Given the description of an element on the screen output the (x, y) to click on. 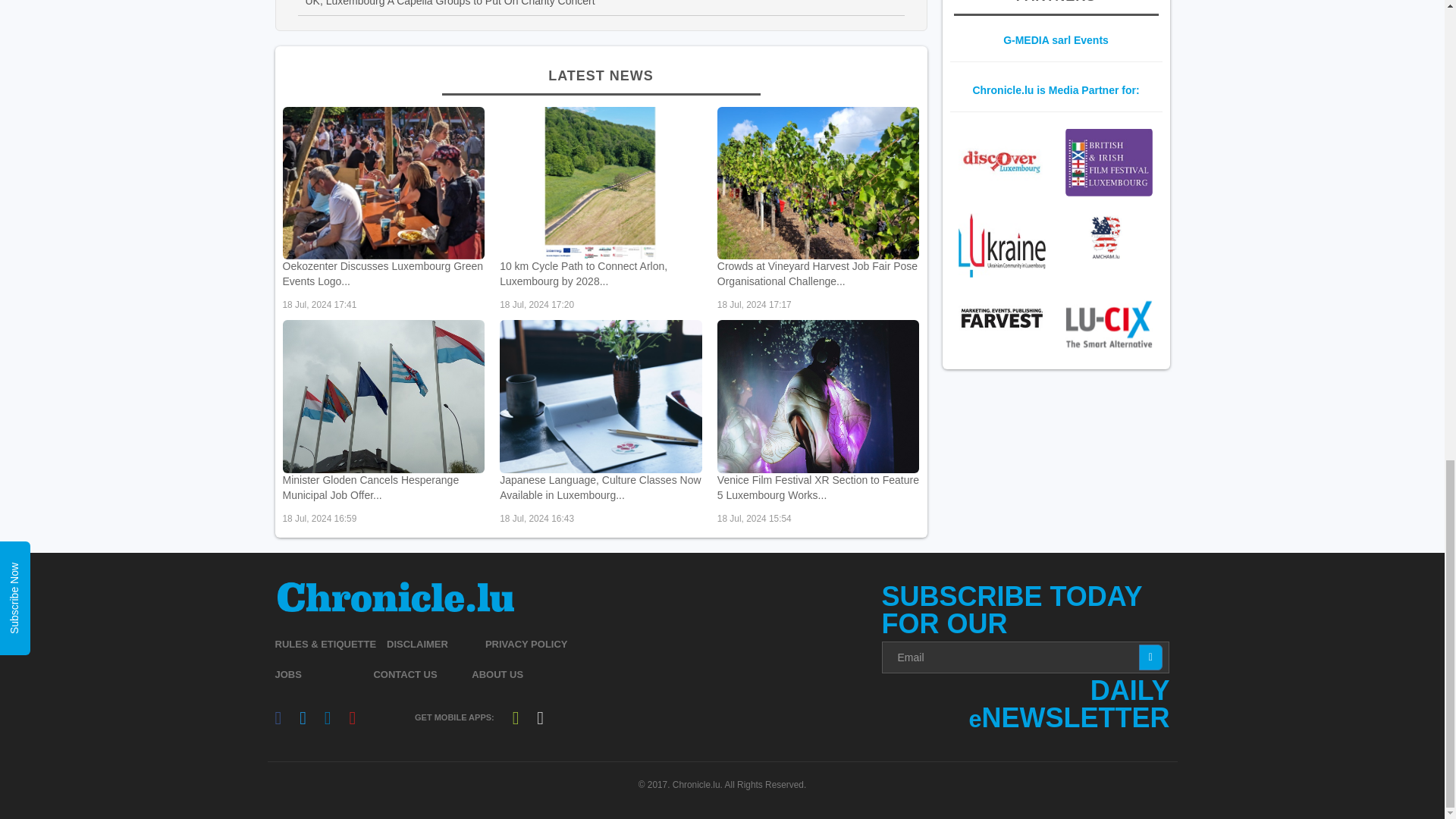
BIFFL (1108, 162)
LUkraine (1000, 245)
Farvest (1000, 318)
LU CIX (1108, 323)
AMCHAM (1108, 237)
Discover Luxembourg (1000, 161)
